Given the description of an element on the screen output the (x, y) to click on. 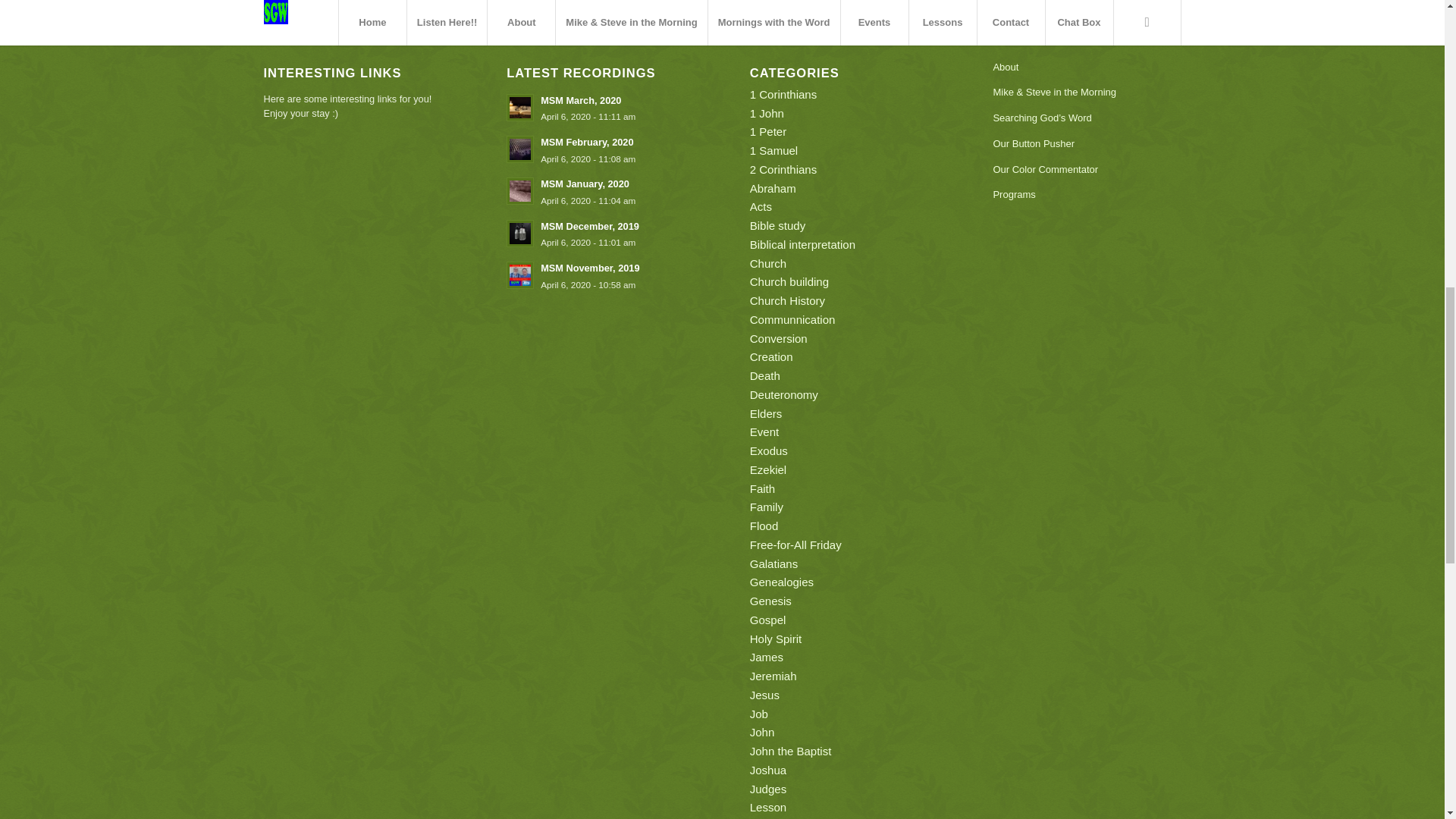
MSM December, 2019 (600, 233)
MSM February, 2020 (600, 149)
MSM January, 2020 (600, 191)
MSM March, 2020 (600, 149)
